Given the description of an element on the screen output the (x, y) to click on. 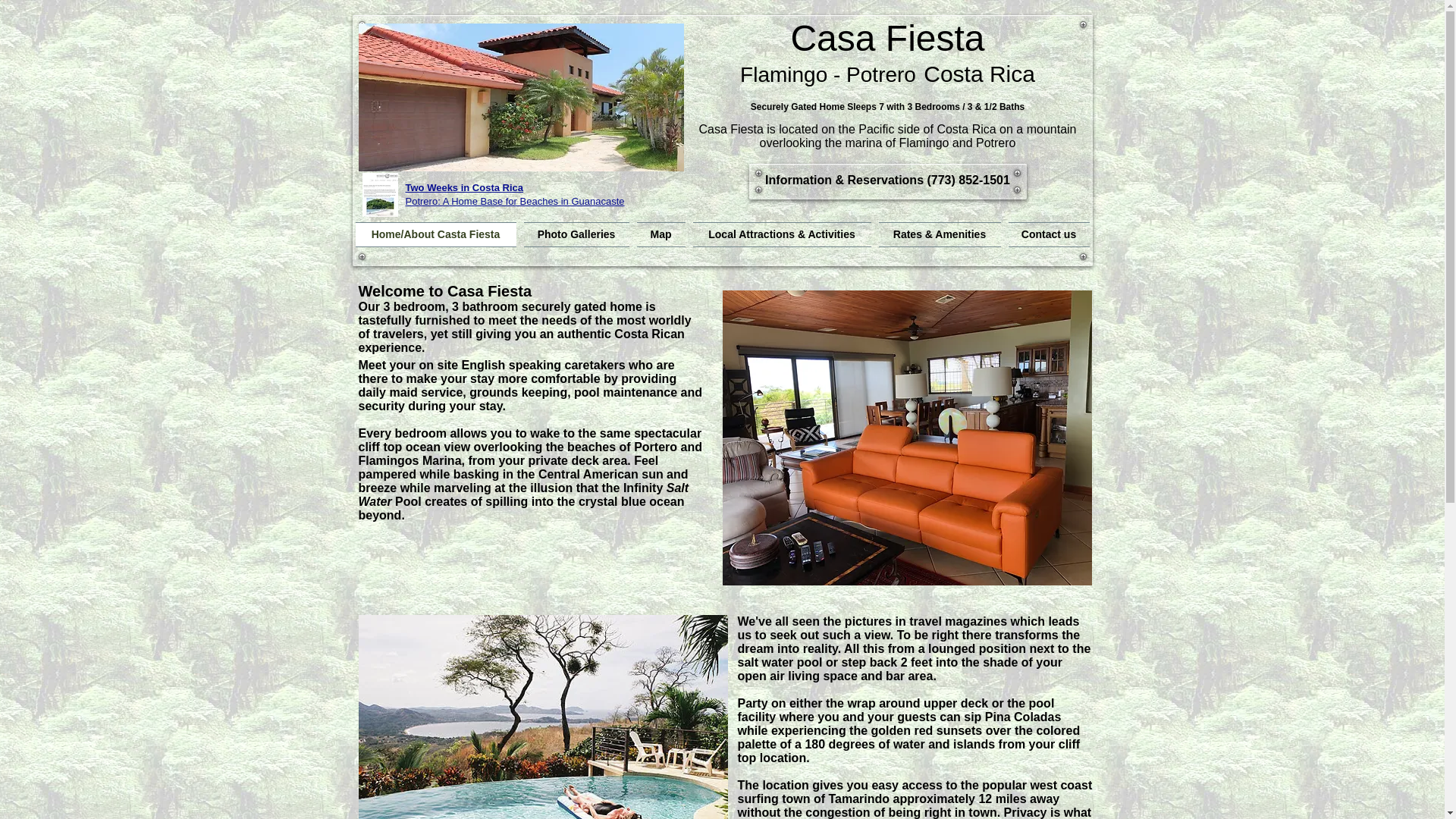
Contact us (1046, 234)
Map (659, 234)
